Given the description of an element on the screen output the (x, y) to click on. 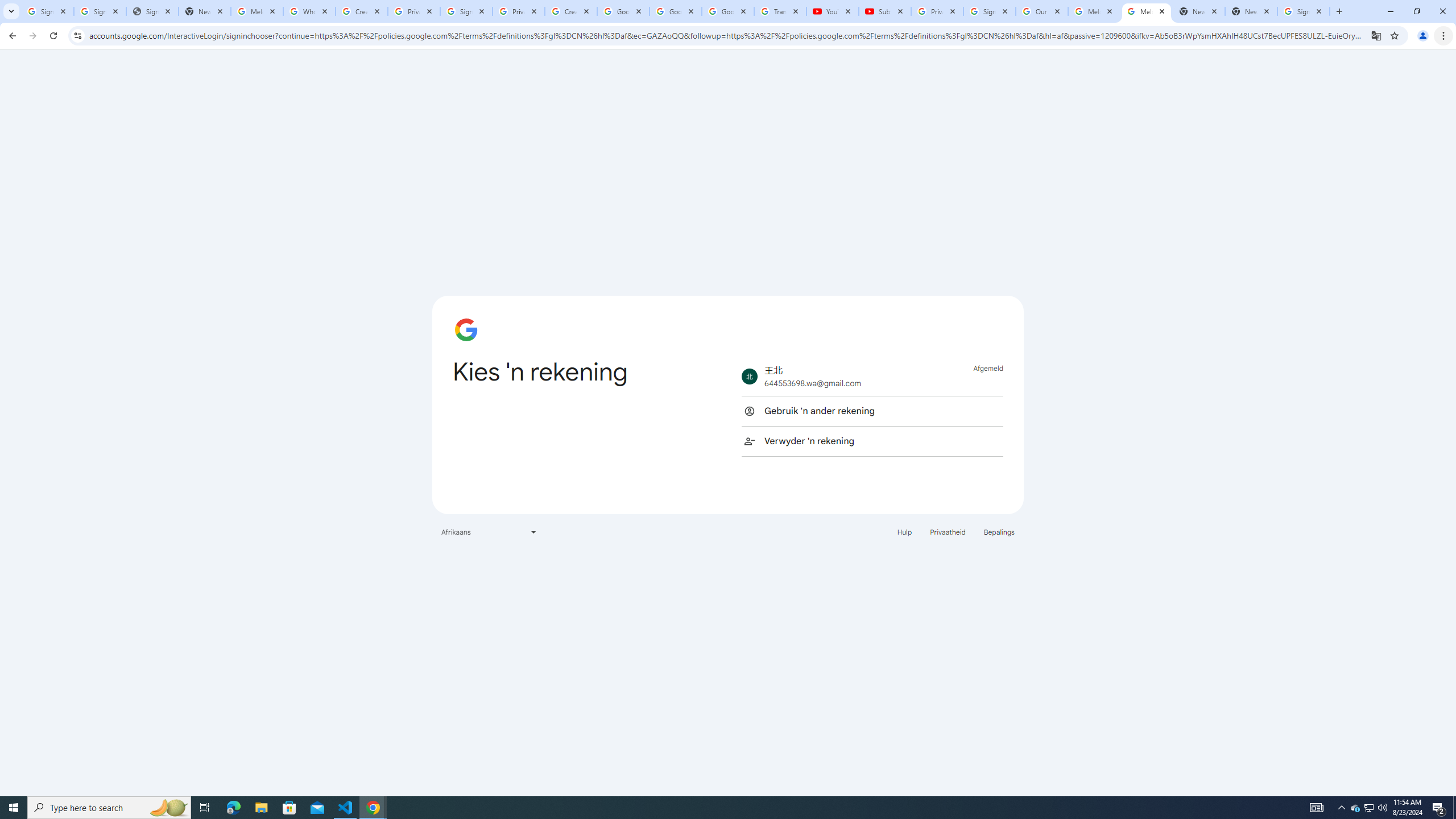
Privaatheid (947, 531)
